Given the description of an element on the screen output the (x, y) to click on. 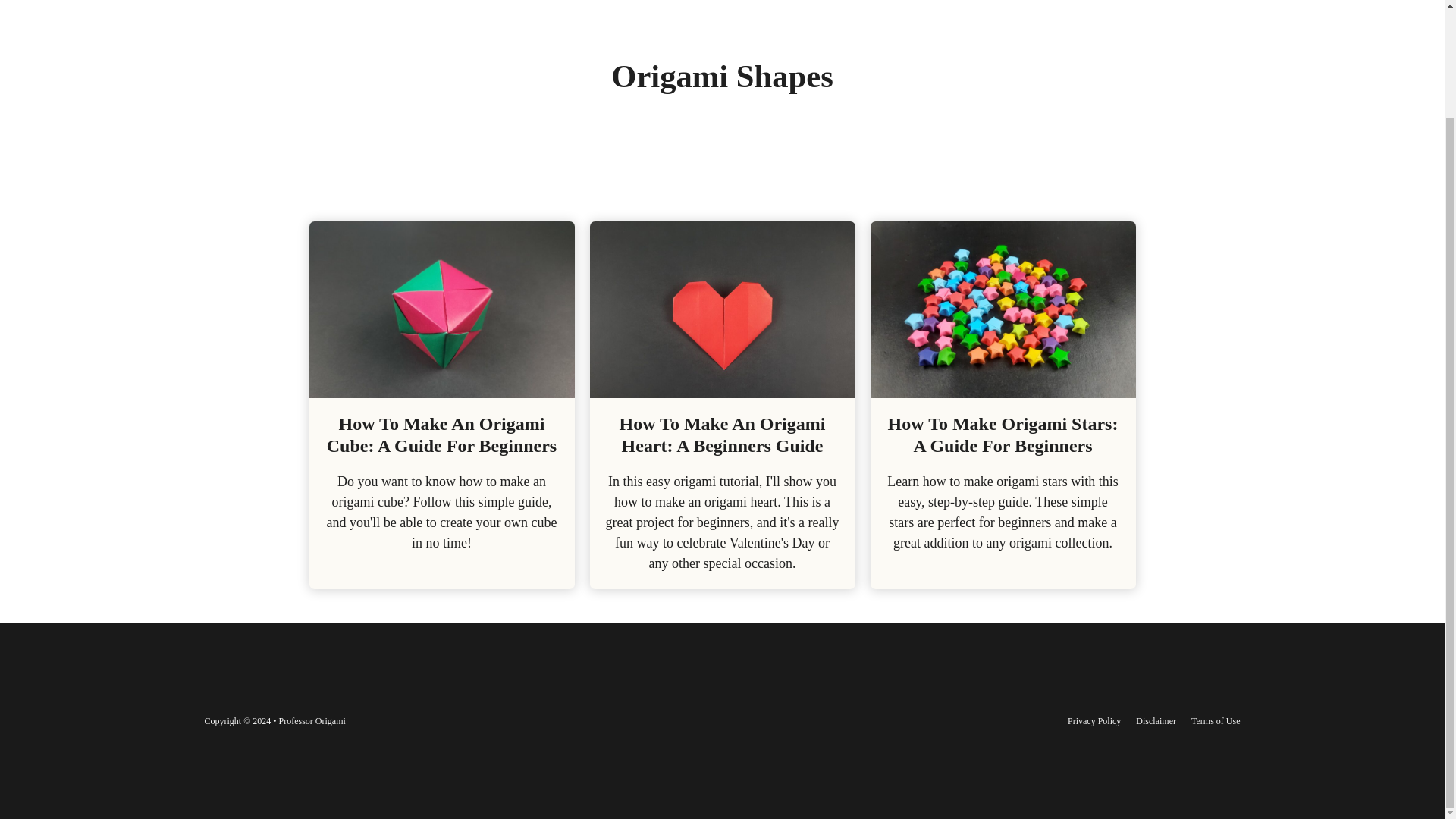
How To Make An Origami Heart: A Beginners Guide (722, 434)
Privacy Policy (1094, 720)
How To Make Origami Stars: A Guide For Beginners (1003, 434)
Disclaimer (1155, 720)
How To Make An Origami Cube: A Guide For Beginners (441, 434)
Terms of Use (1215, 720)
